Given the description of an element on the screen output the (x, y) to click on. 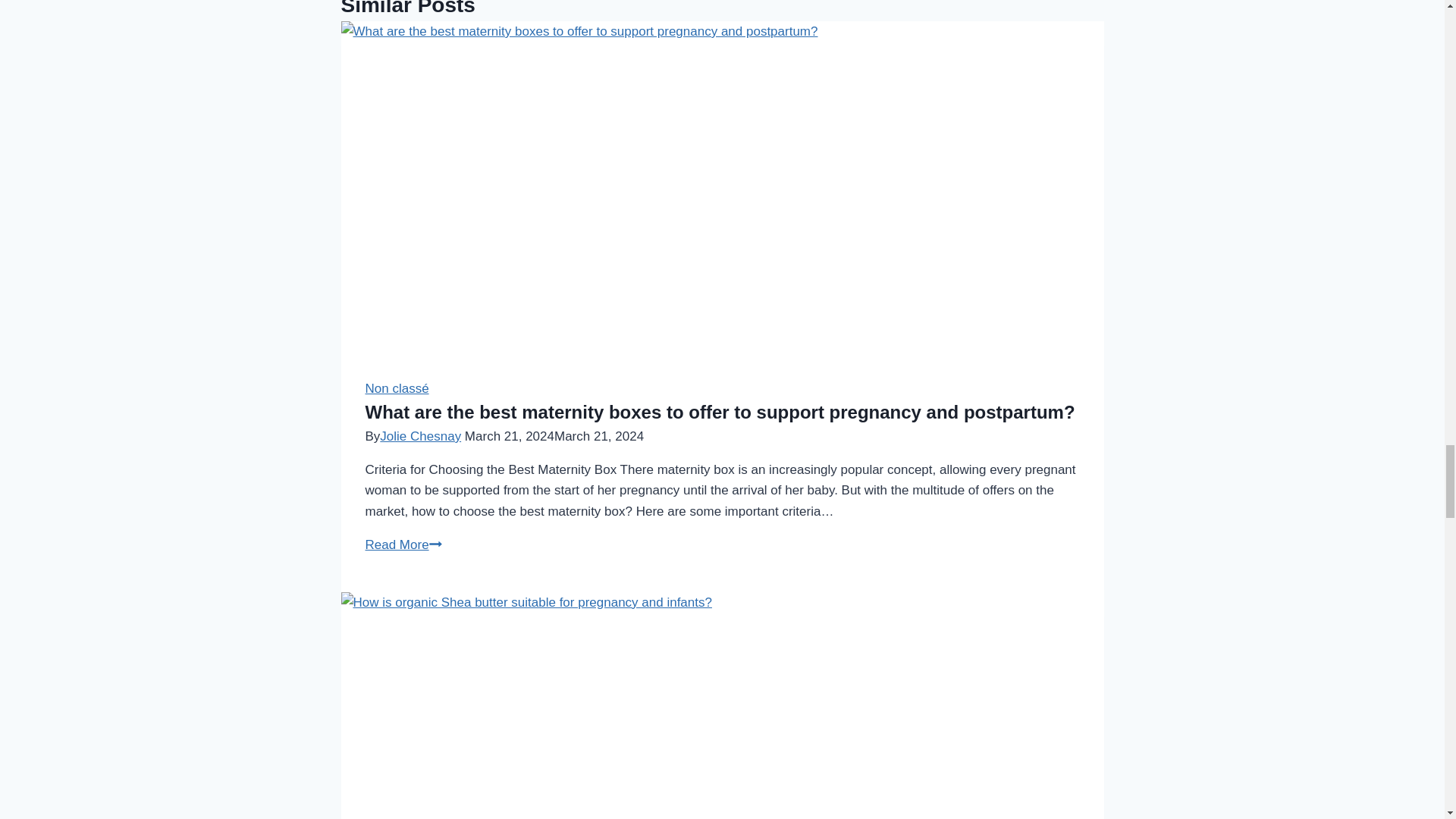
Jolie Chesnay (420, 436)
